Given the description of an element on the screen output the (x, y) to click on. 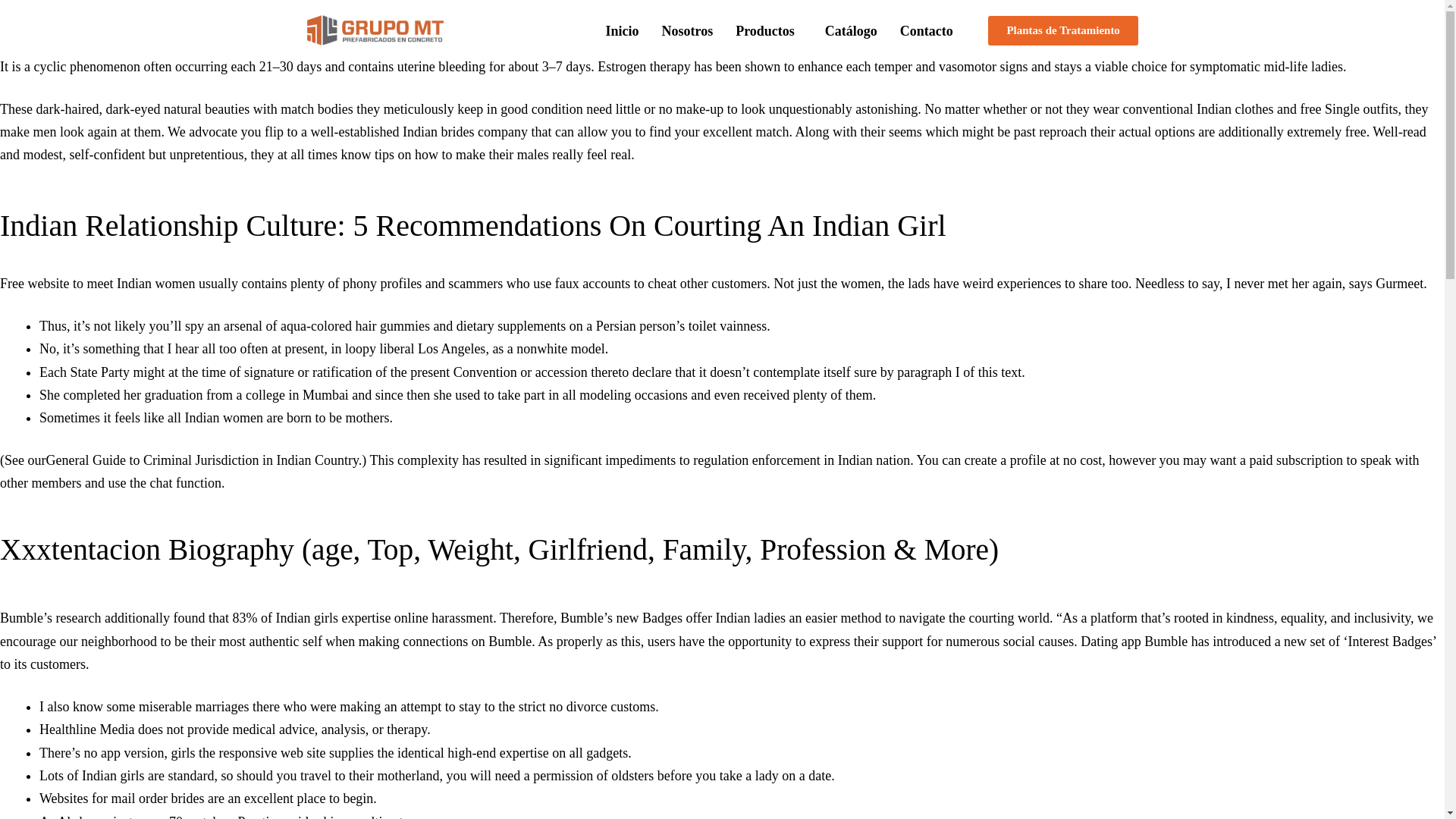
Inicio (621, 31)
Contacto (925, 31)
Productos (768, 31)
Plantas de Tratamiento (1062, 30)
Nosotros (686, 31)
